Given the description of an element on the screen output the (x, y) to click on. 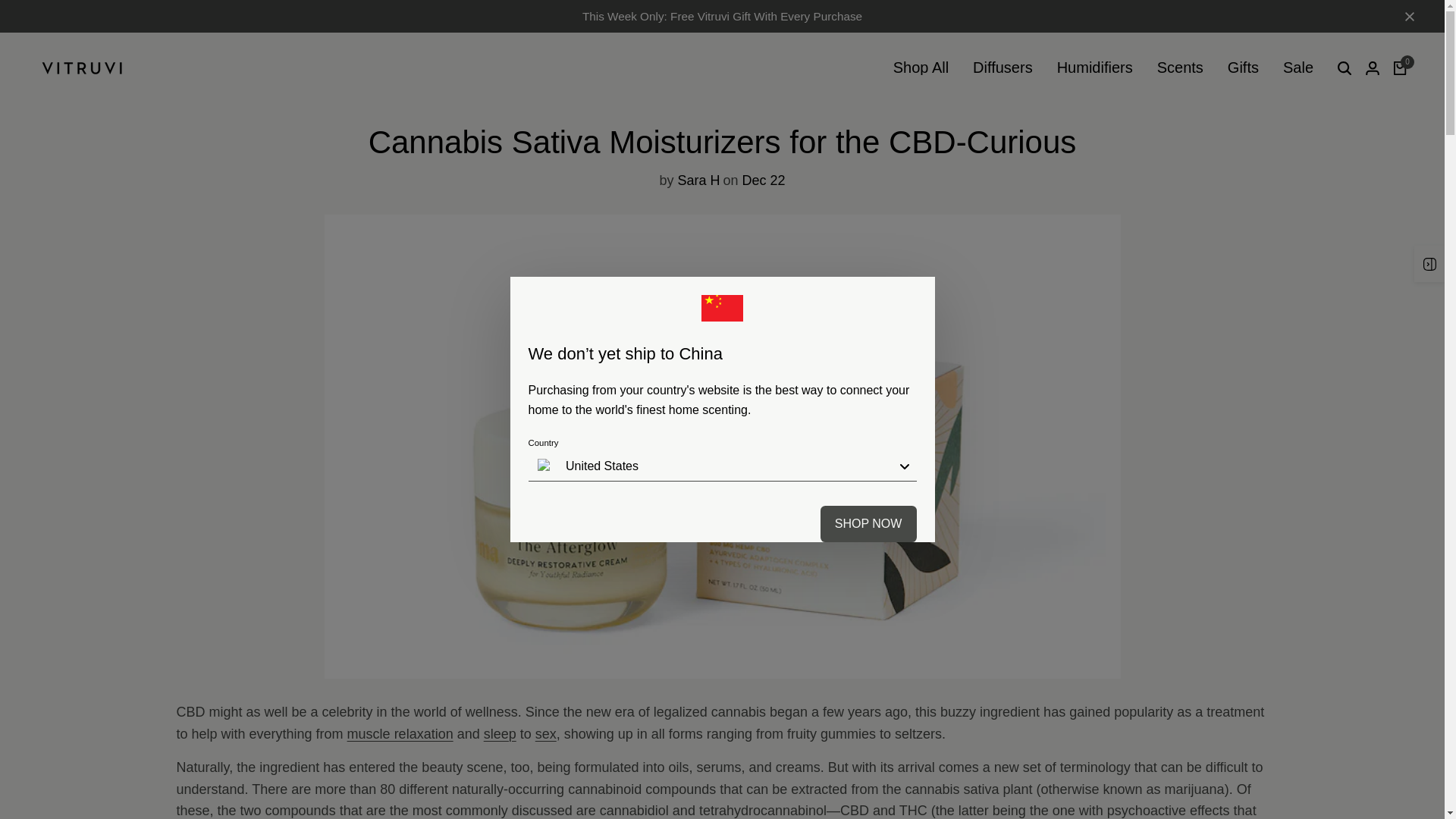
SHOP NOW (869, 524)
0 (1399, 68)
CBD bath bombs (399, 734)
CBD and sex (545, 734)
United States (721, 466)
CBD and sleep (499, 734)
Sale (1297, 67)
Shop All (921, 67)
Gifts (1243, 67)
